Given the description of an element on the screen output the (x, y) to click on. 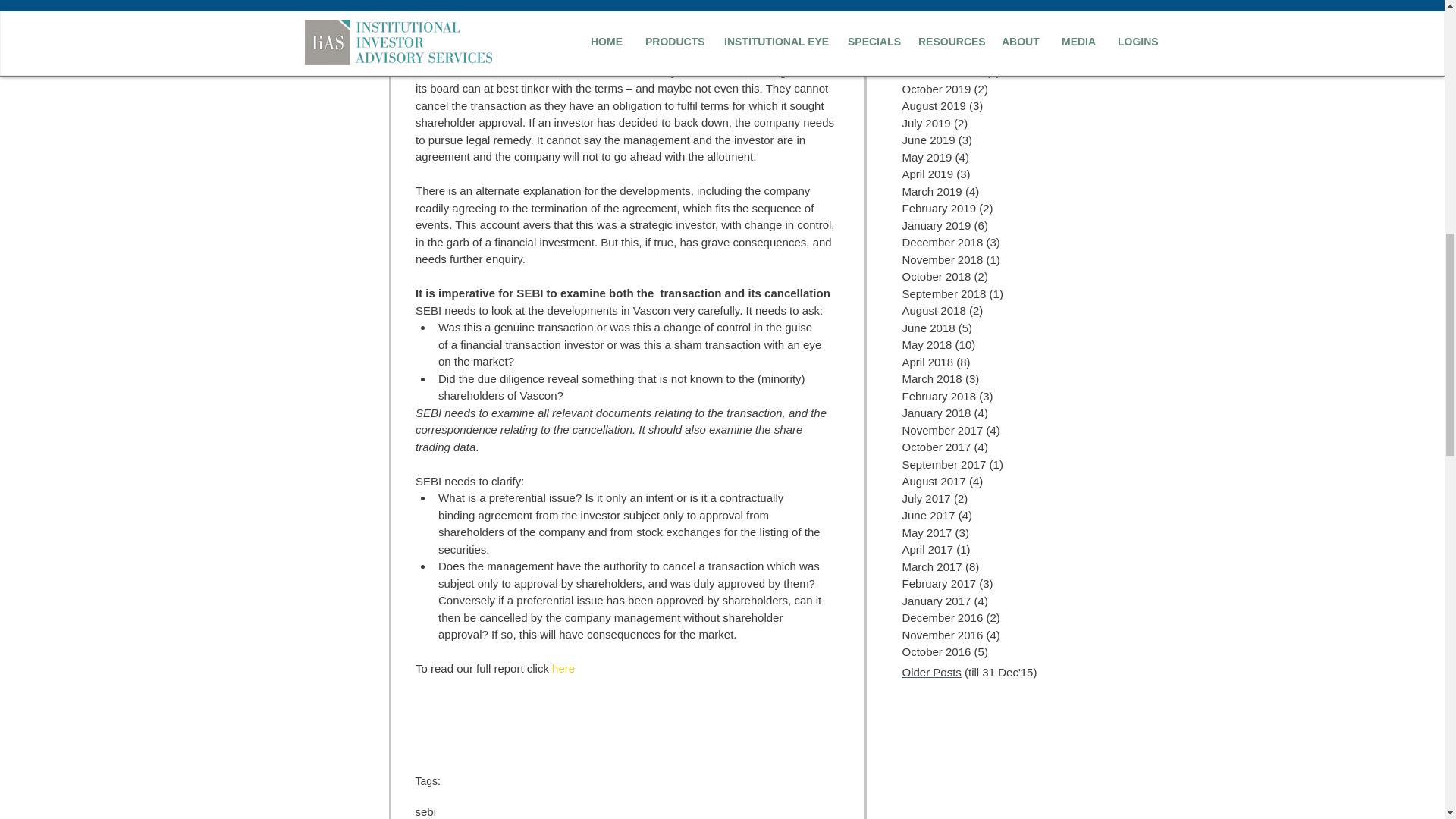
sebi (425, 811)
here (563, 667)
